Given the description of an element on the screen output the (x, y) to click on. 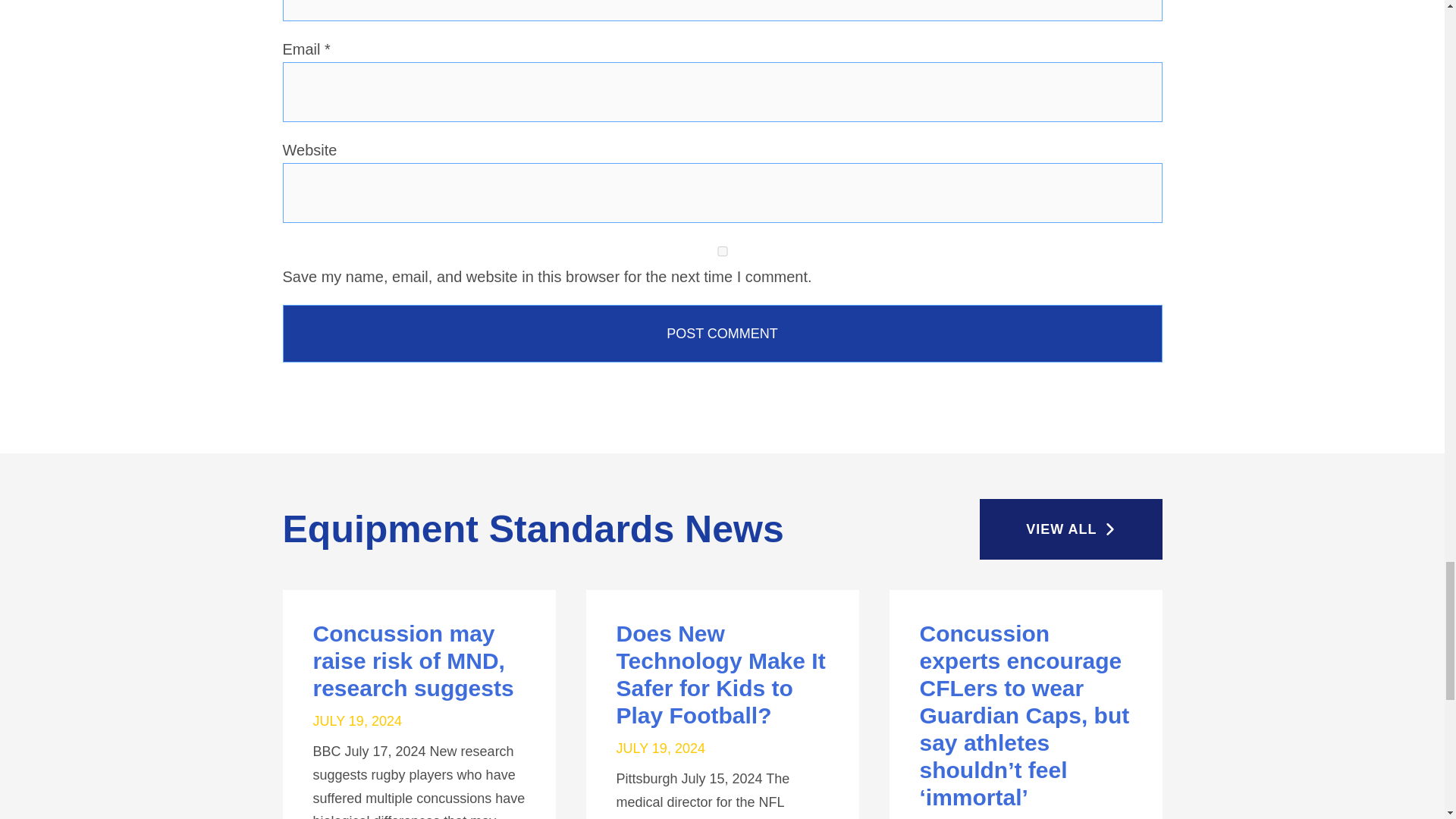
Post Comment (721, 333)
